Given the description of an element on the screen output the (x, y) to click on. 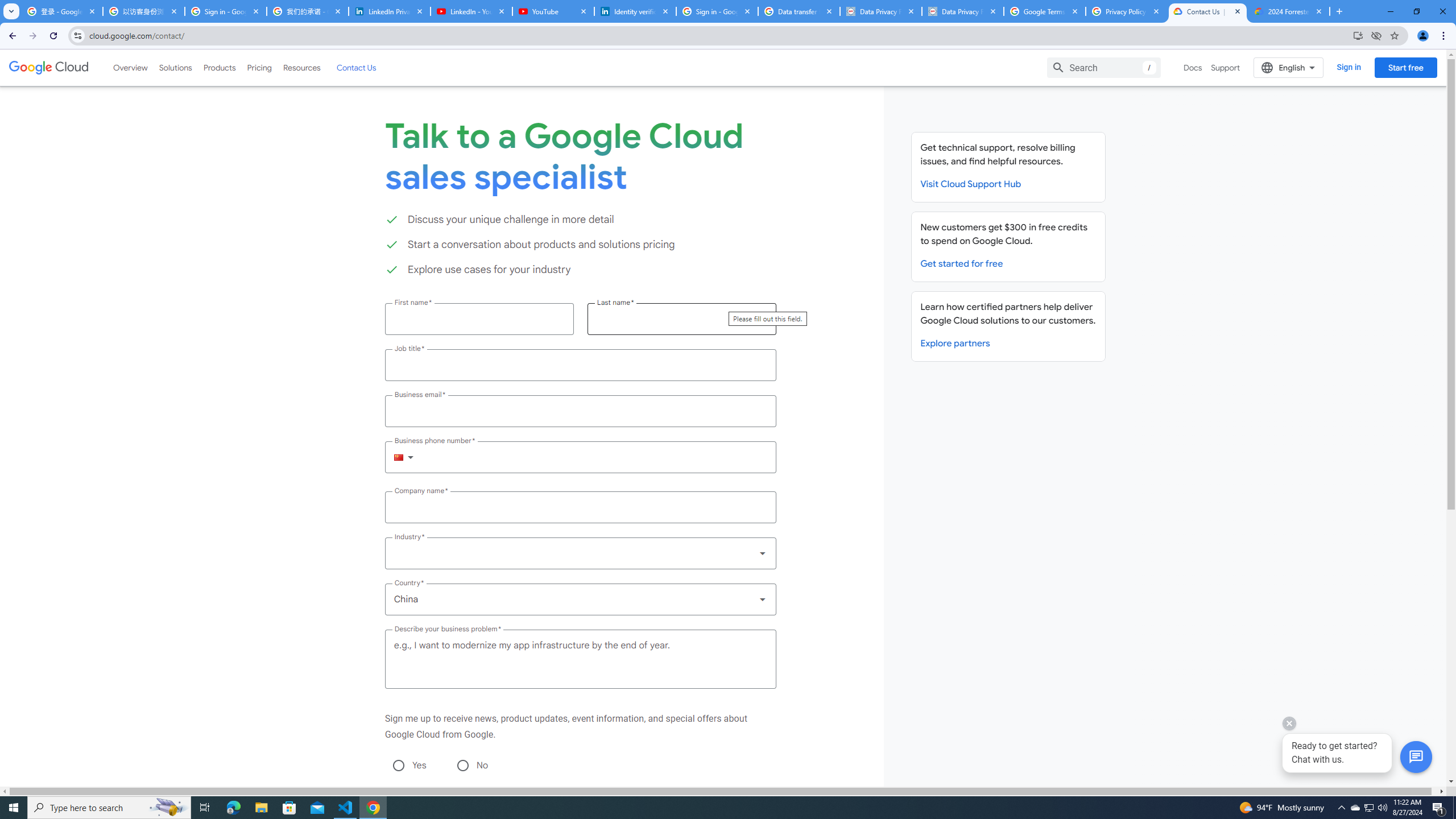
Docs (1192, 67)
Data Privacy Framework (963, 11)
Contact Us (355, 67)
Install Google Cloud (1358, 35)
LinkedIn Privacy Policy (389, 11)
Pricing (259, 67)
Button to activate chat (1416, 757)
LinkedIn - YouTube (470, 11)
Support (1225, 67)
